Given the description of an element on the screen output the (x, y) to click on. 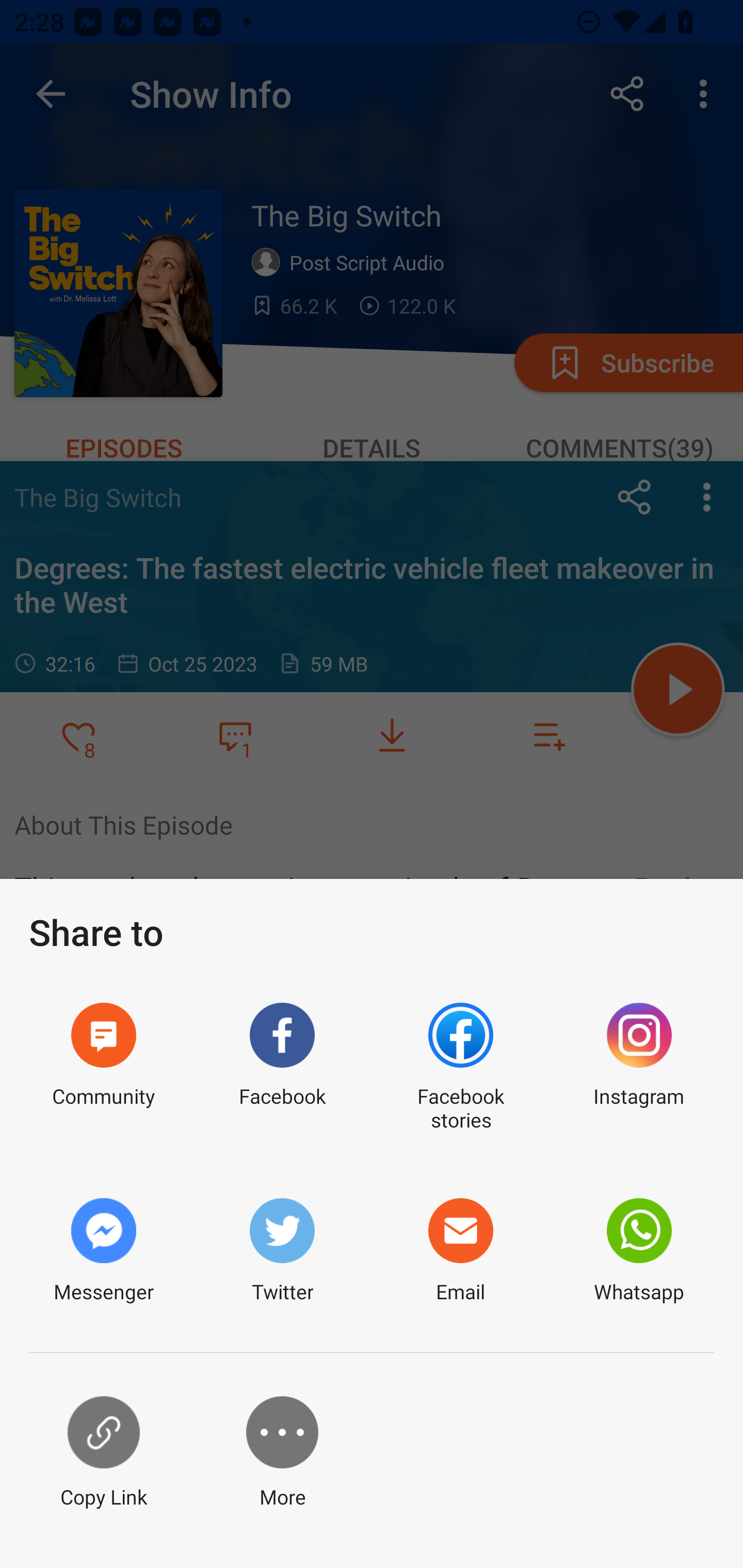
Community (103, 1067)
Facebook (282, 1067)
Facebook stories (460, 1067)
Instagram (638, 1067)
Messenger (103, 1251)
Twitter (282, 1251)
Email (460, 1251)
Whatsapp (638, 1251)
Copy Link (103, 1453)
More (282, 1453)
